Given the description of an element on the screen output the (x, y) to click on. 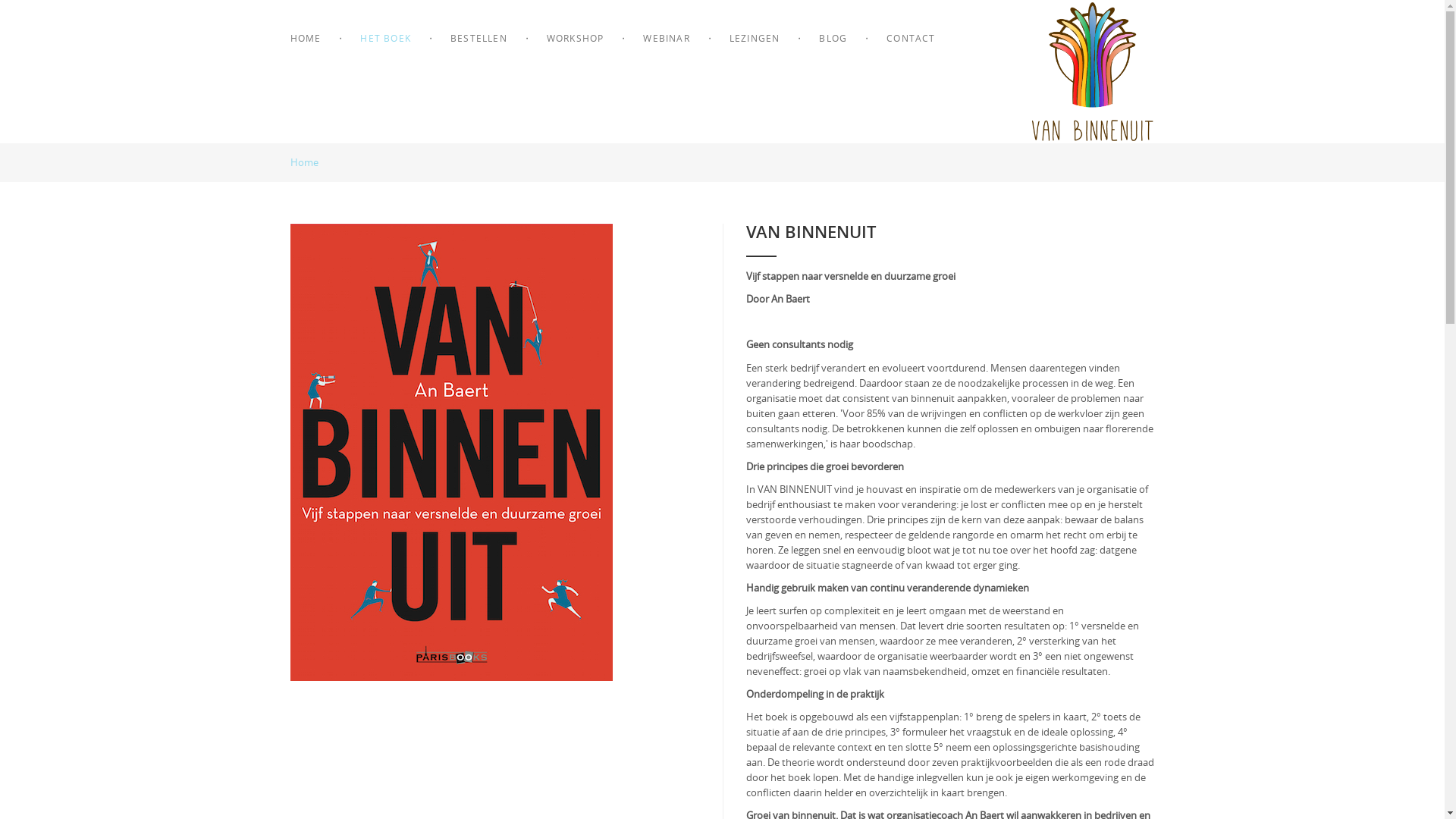
BLOG Element type: text (833, 37)
CONTACT Element type: text (910, 37)
HOME Element type: text (314, 37)
LEZINGEN Element type: text (754, 37)
BESTELLEN Element type: text (478, 37)
WORKSHOP Element type: text (575, 37)
Home Element type: text (310, 162)
HET BOEK Element type: text (385, 37)
WEBINAR Element type: text (666, 37)
